Given the description of an element on the screen output the (x, y) to click on. 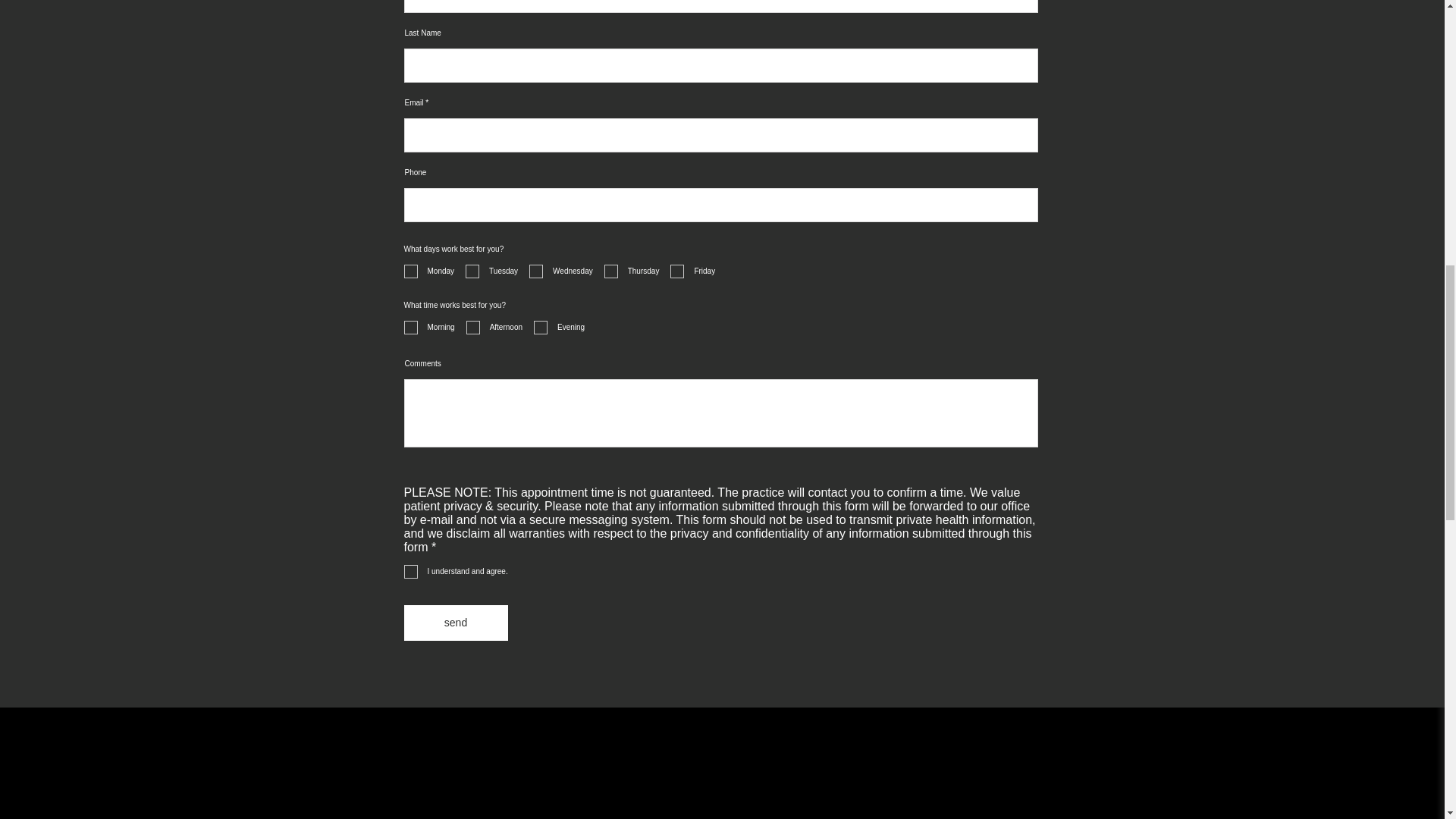
send (454, 622)
